Given the description of an element on the screen output the (x, y) to click on. 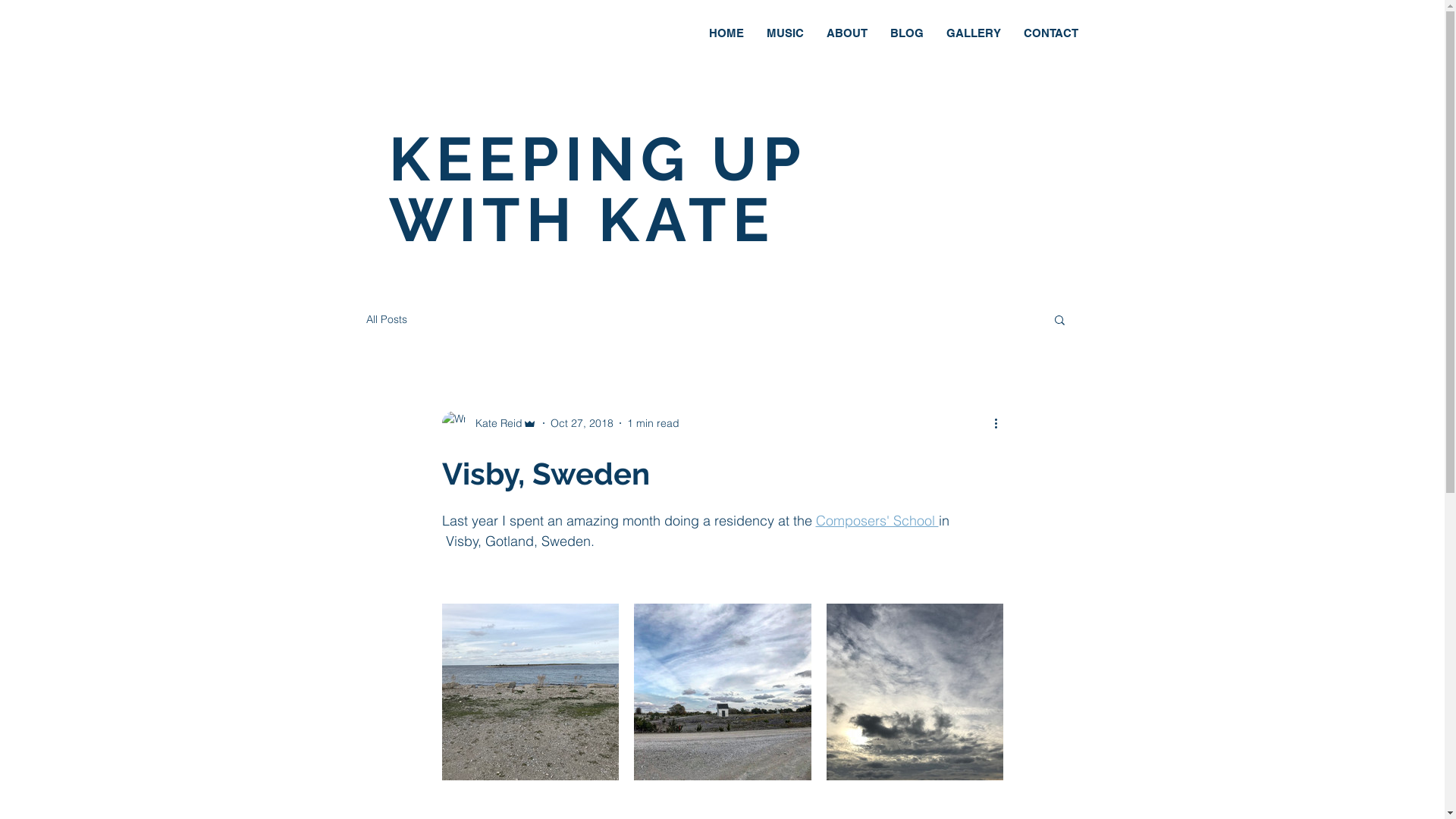
GALLERY Element type: text (972, 32)
All Posts Element type: text (385, 319)
BLOG Element type: text (906, 32)
MUSIC Element type: text (785, 32)
CONTACT Element type: text (1049, 32)
HOME Element type: text (726, 32)
ABOUT Element type: text (846, 32)
Composers' School  Element type: text (876, 520)
